Given the description of an element on the screen output the (x, y) to click on. 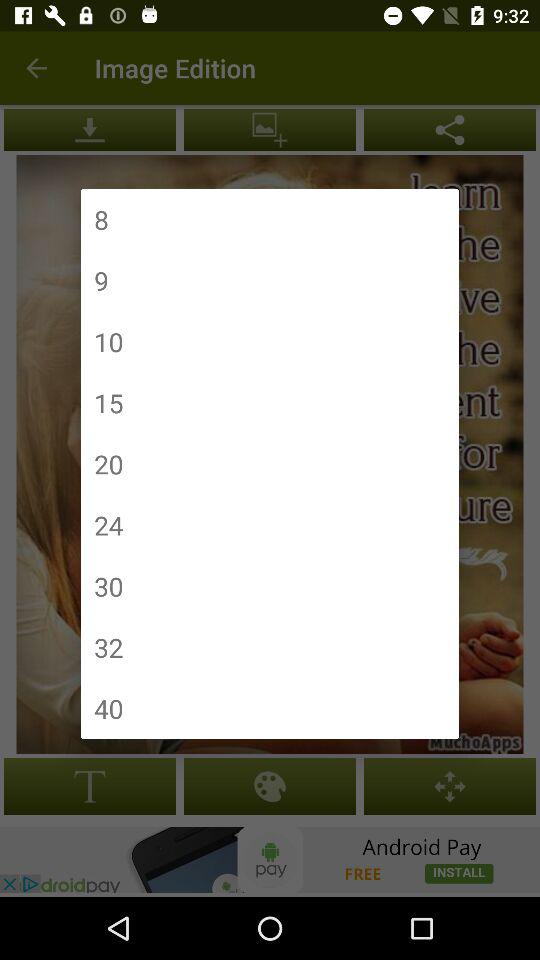
swipe to 24 item (108, 524)
